Given the description of an element on the screen output the (x, y) to click on. 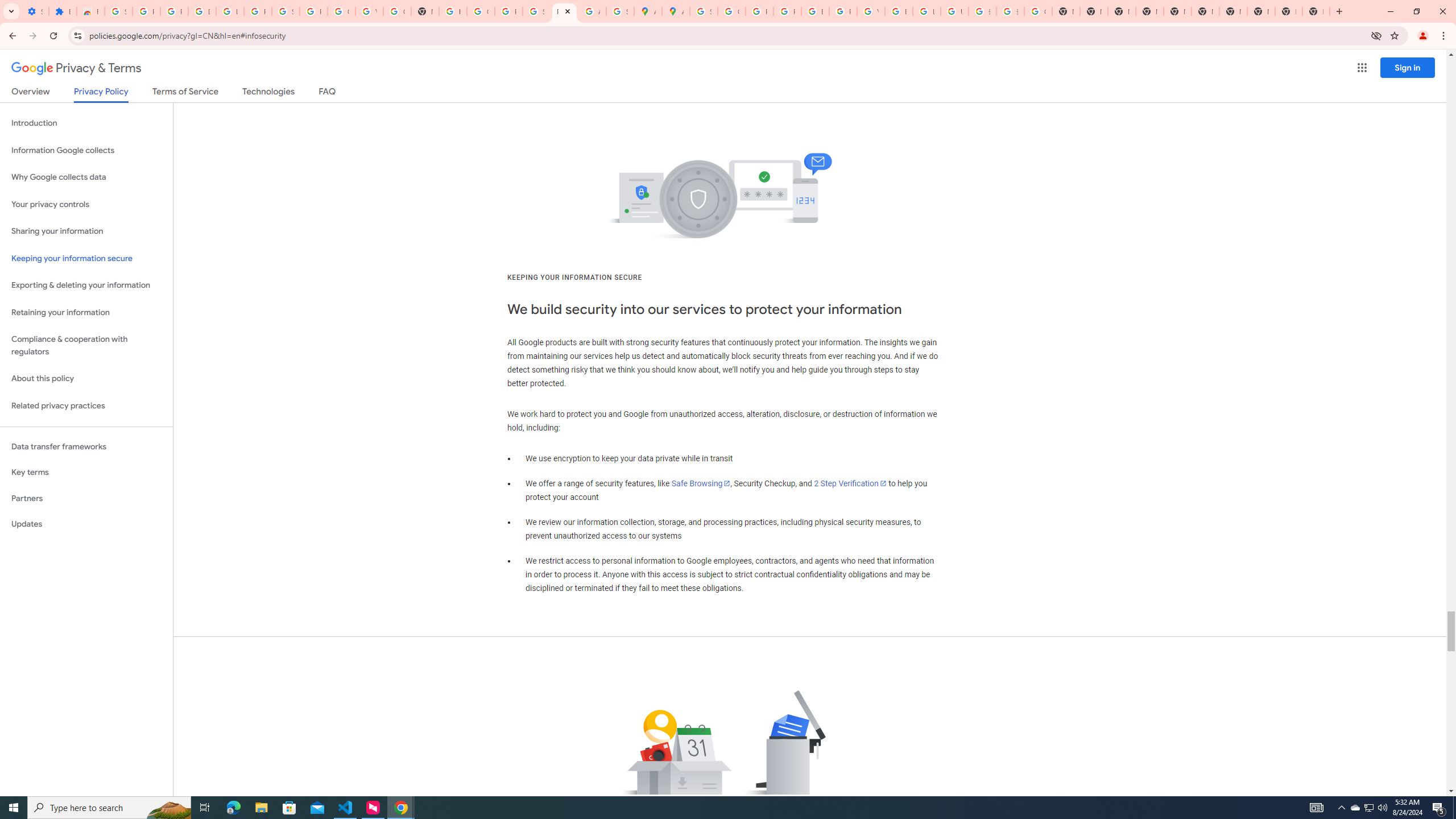
2 Step Verification (849, 483)
Reviews: Helix Fruit Jump Arcade Game (90, 11)
About this policy (86, 379)
Learn how to find your photos - Google Photos Help (229, 11)
Related privacy practices (86, 405)
YouTube (870, 11)
Safety in Our Products - Google Safety Center (620, 11)
